Given the description of an element on the screen output the (x, y) to click on. 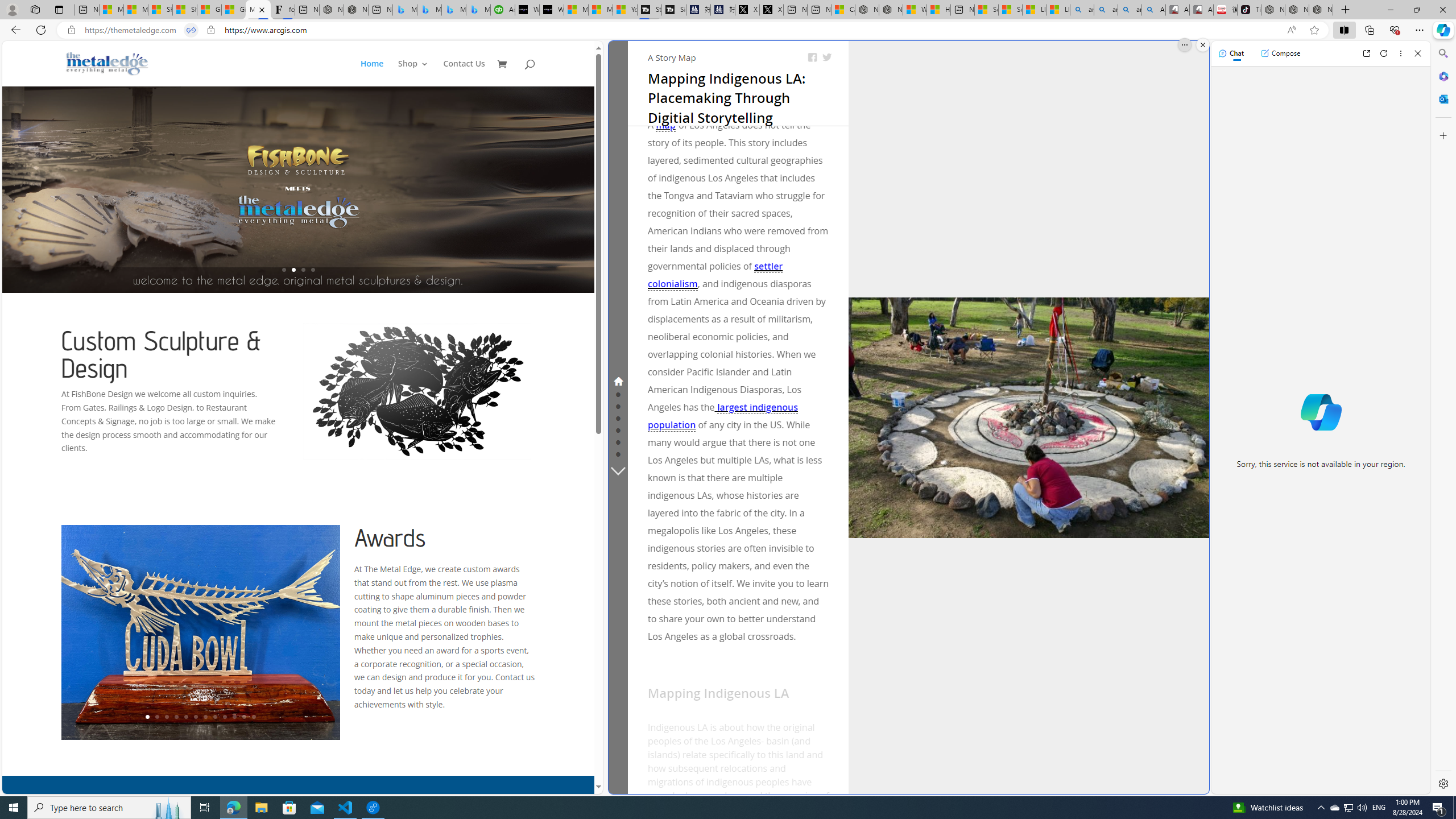
Accounting Software for Accountants, CPAs and Bookkeepers (502, 9)
Shop3 (419, 72)
Nordace Siena Pro 15 Backpack (1296, 9)
9 (224, 716)
Open link in new tab (1366, 53)
Return to narrative (1031, 776)
Go to section 2: Mapping Indigenous LA  (617, 393)
